Given the description of an element on the screen output the (x, y) to click on. 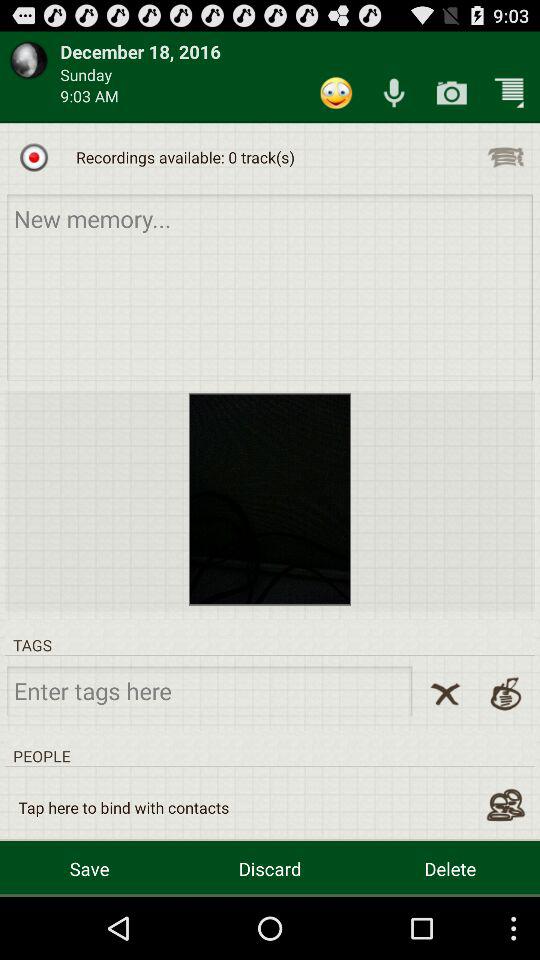
tap to bind contacts (505, 805)
